Given the description of an element on the screen output the (x, y) to click on. 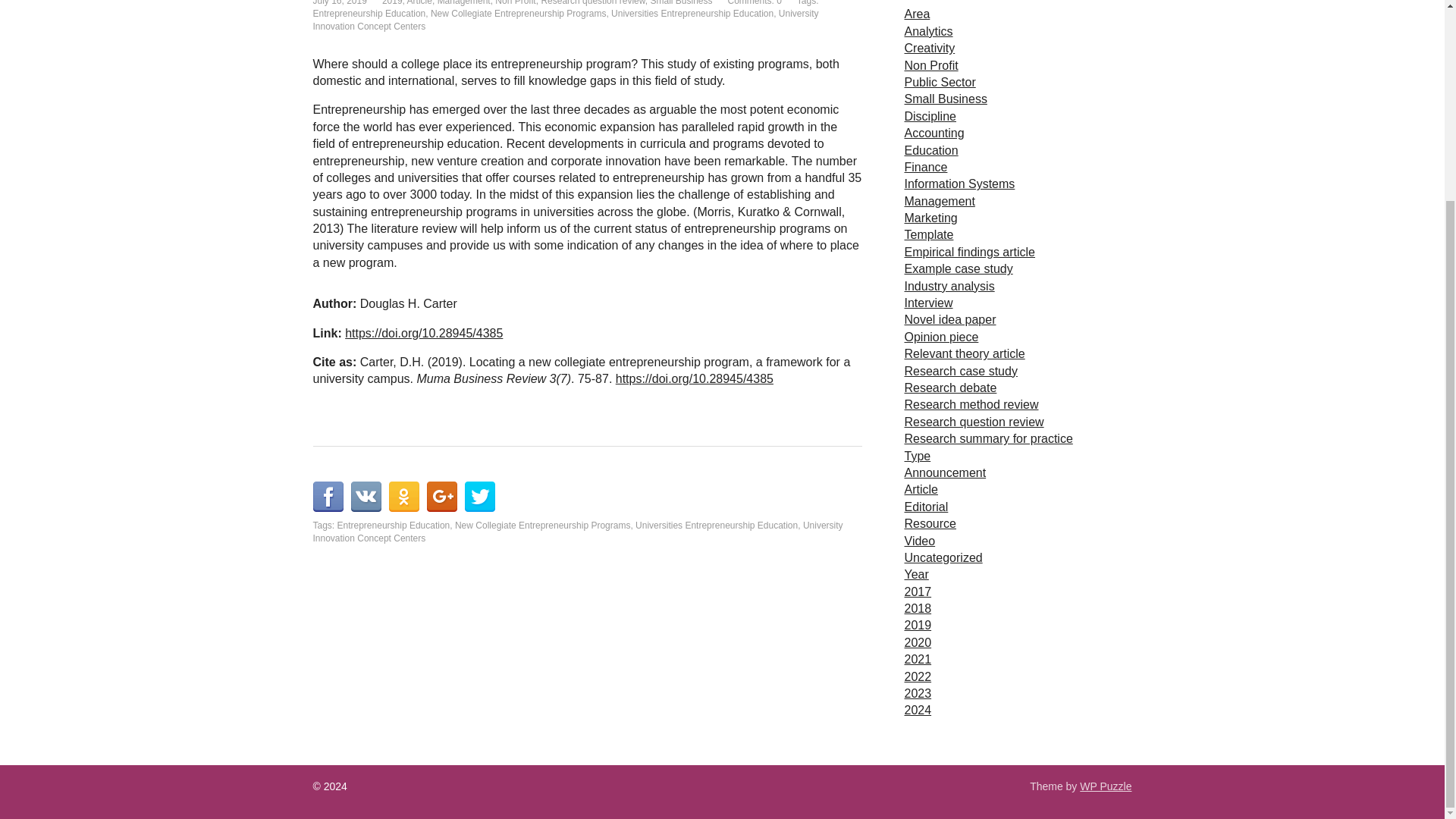
Management (464, 2)
Entrepreneurship Education (393, 525)
2019 (392, 2)
Share in Twitter (479, 496)
New Collegiate Entrepreneurship Programs (517, 13)
Share in OK (403, 496)
Comments: 0 (754, 2)
Small Business (680, 2)
Entrepreneurship Education (369, 13)
Research question review (592, 2)
